Given the description of an element on the screen output the (x, y) to click on. 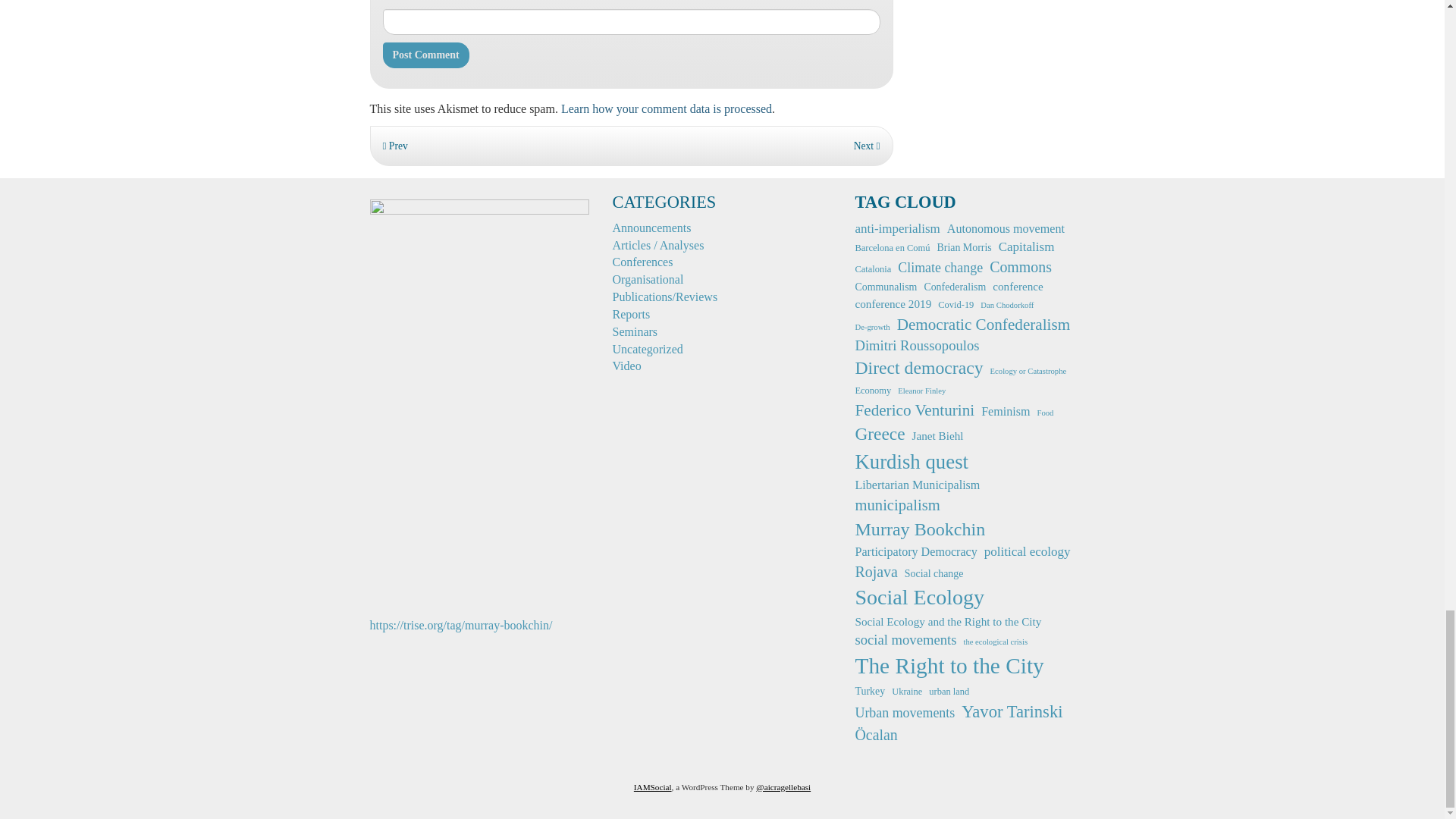
Post Comment (424, 54)
Prev (394, 145)
Learn how your comment data is processed (665, 108)
Post Comment (424, 54)
Next (866, 145)
